Given the description of an element on the screen output the (x, y) to click on. 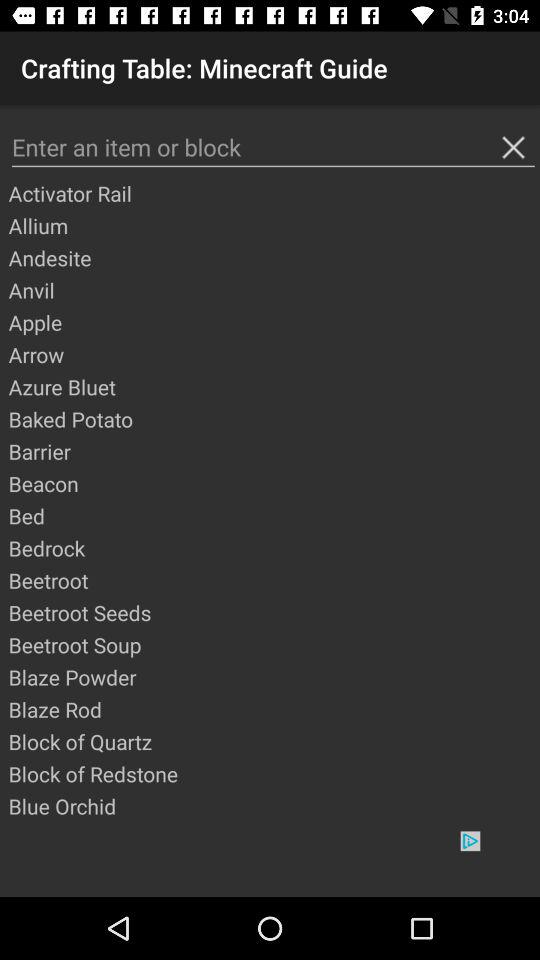
open baked potato item (273, 419)
